Given the description of an element on the screen output the (x, y) to click on. 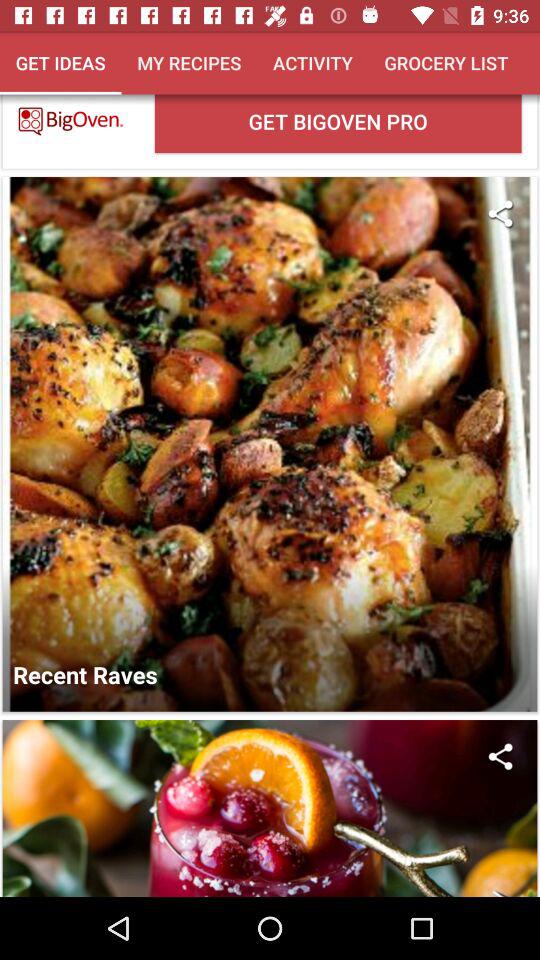
share entry (500, 756)
